Given the description of an element on the screen output the (x, y) to click on. 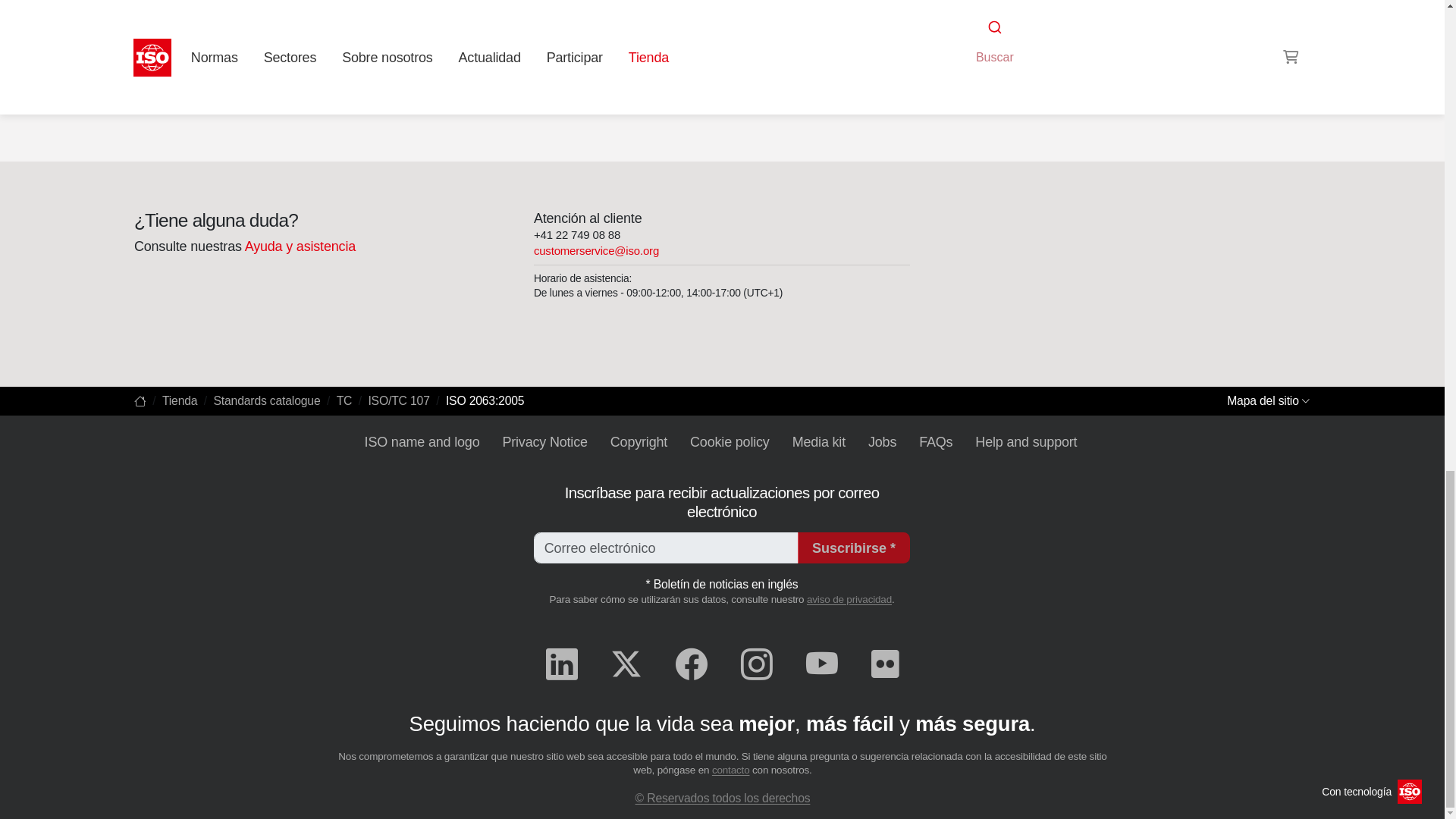
Etapa: 95.99 (377, 11)
